Given the description of an element on the screen output the (x, y) to click on. 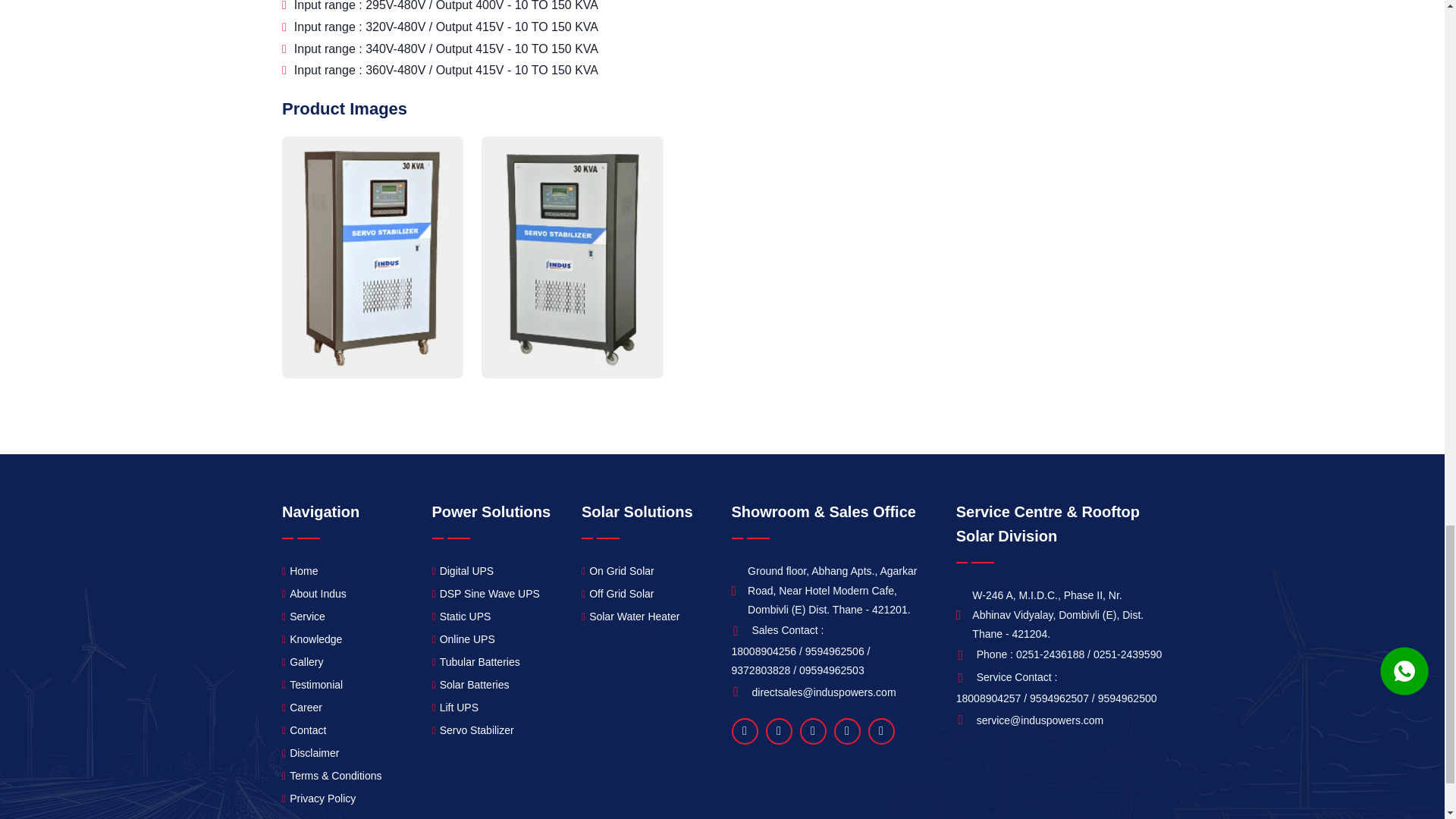
Career (301, 707)
Knowledge (312, 639)
Contact (304, 730)
Home (299, 570)
About Indus (314, 593)
Gallery (302, 661)
Testimonial (312, 684)
Disclaimer (310, 752)
Service (303, 616)
